Given the description of an element on the screen output the (x, y) to click on. 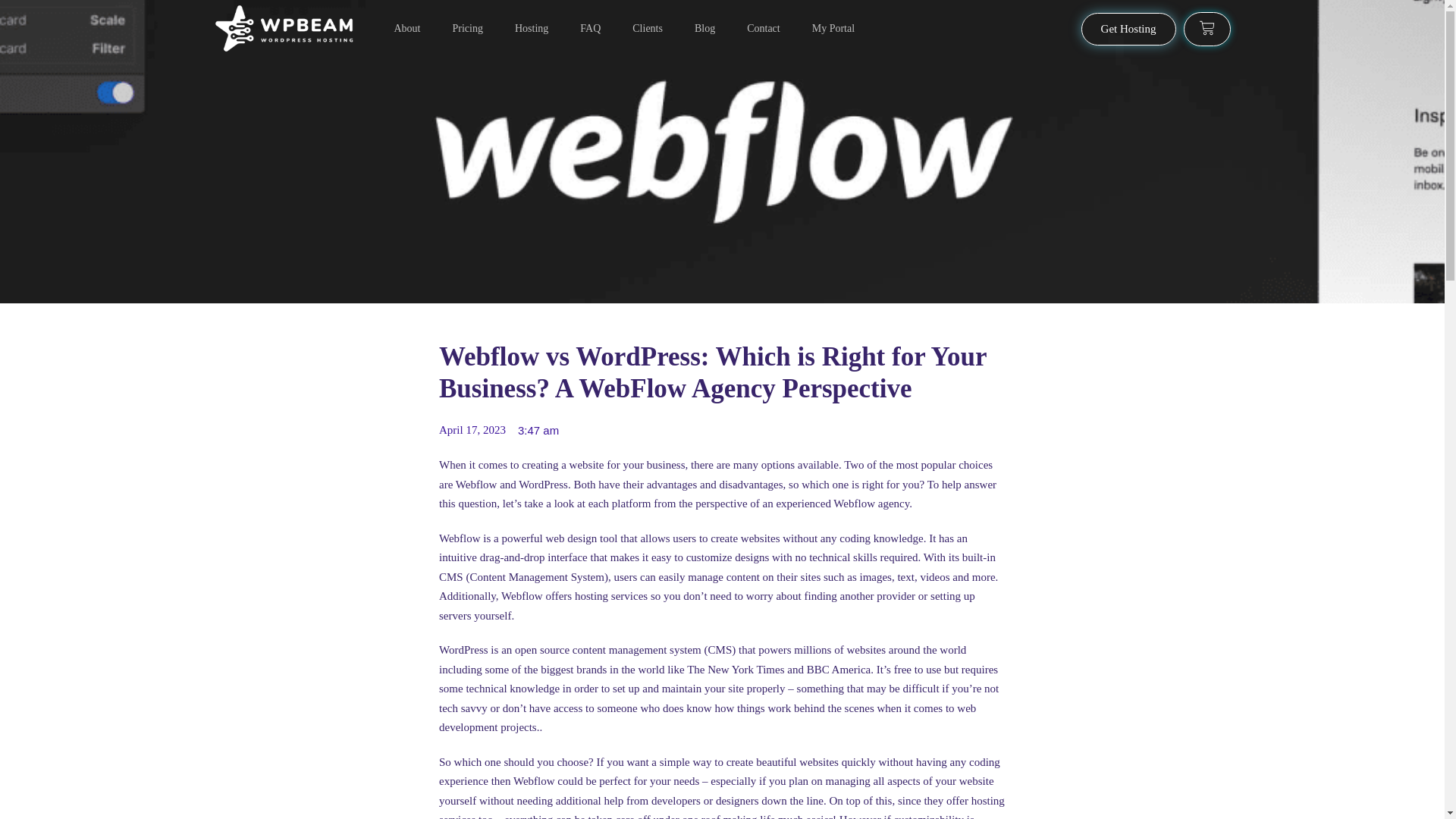
My Portal (833, 28)
FAQ (590, 28)
Get Hosting (1128, 28)
About (407, 28)
Clients (646, 28)
Blog (704, 28)
Contact (763, 28)
Hosting (531, 28)
Pricing (466, 28)
